Given the description of an element on the screen output the (x, y) to click on. 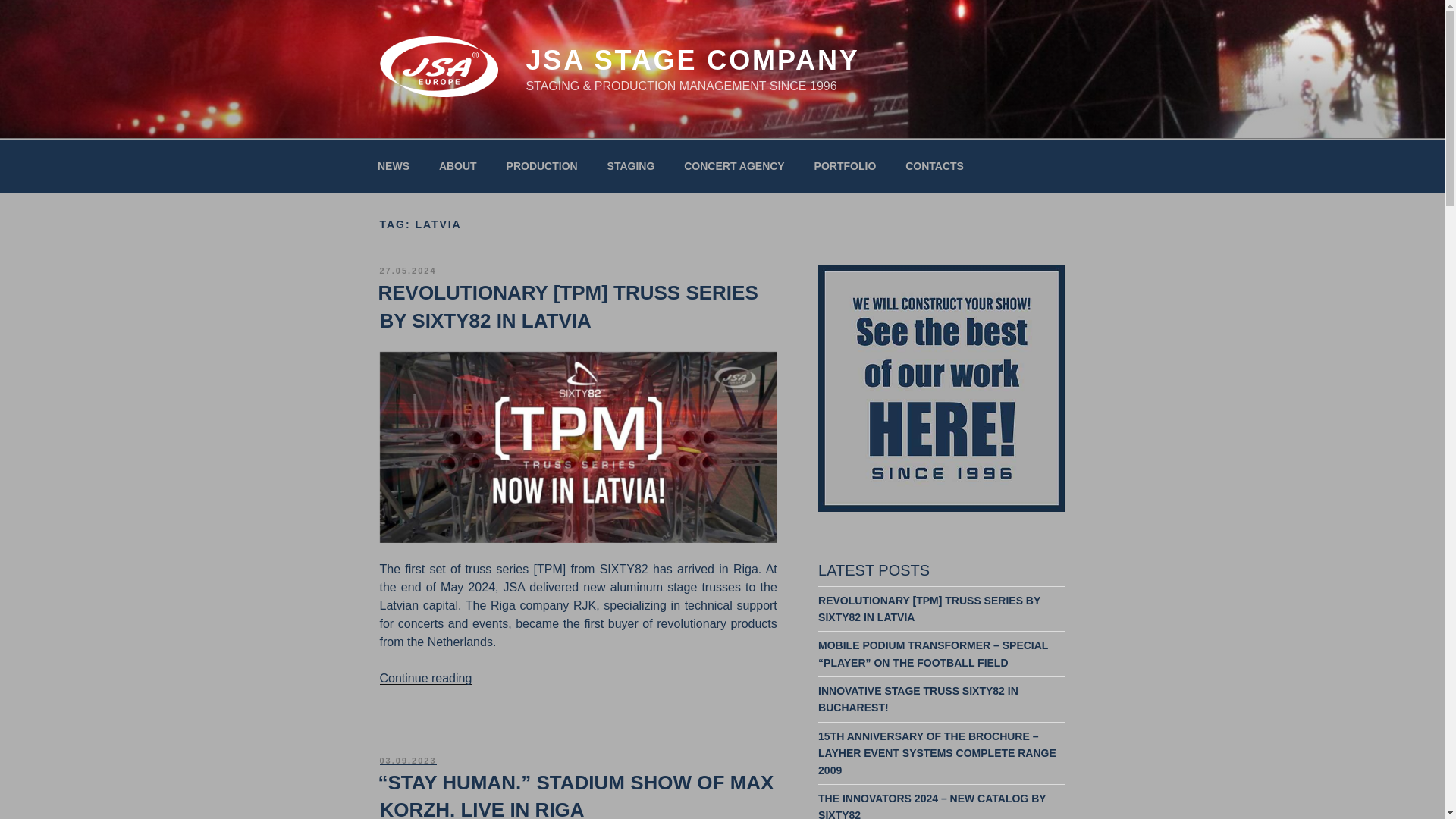
PRODUCTION (542, 165)
JSA STAGE COMPANY (692, 60)
CONTACTS (934, 165)
NEWS (393, 165)
PORTFOLIO (844, 165)
ABOUT (457, 165)
27.05.2024 (406, 270)
CONCERT AGENCY (734, 165)
INNOVATIVE STAGE TRUSS SIXTY82 IN BUCHAREST! (917, 698)
STAGING (631, 165)
03.09.2023 (406, 759)
